Given the description of an element on the screen output the (x, y) to click on. 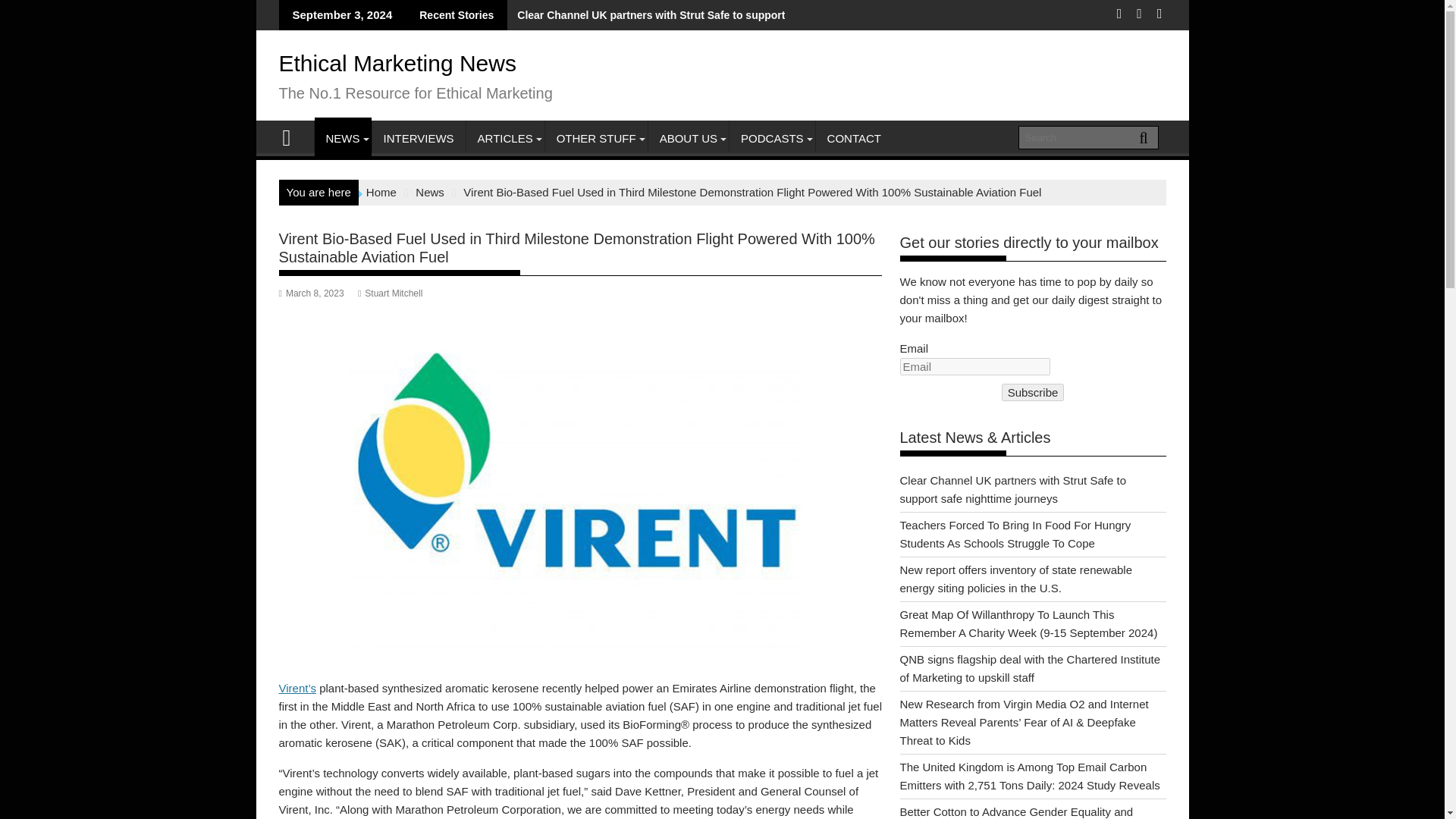
Subscribe (1032, 392)
CONTACT (853, 138)
Ethical Marketing News (397, 63)
INTERVIEWS (417, 138)
NEWS (342, 138)
PODCASTS (772, 138)
Ethical Marketing News (293, 136)
